Given the description of an element on the screen output the (x, y) to click on. 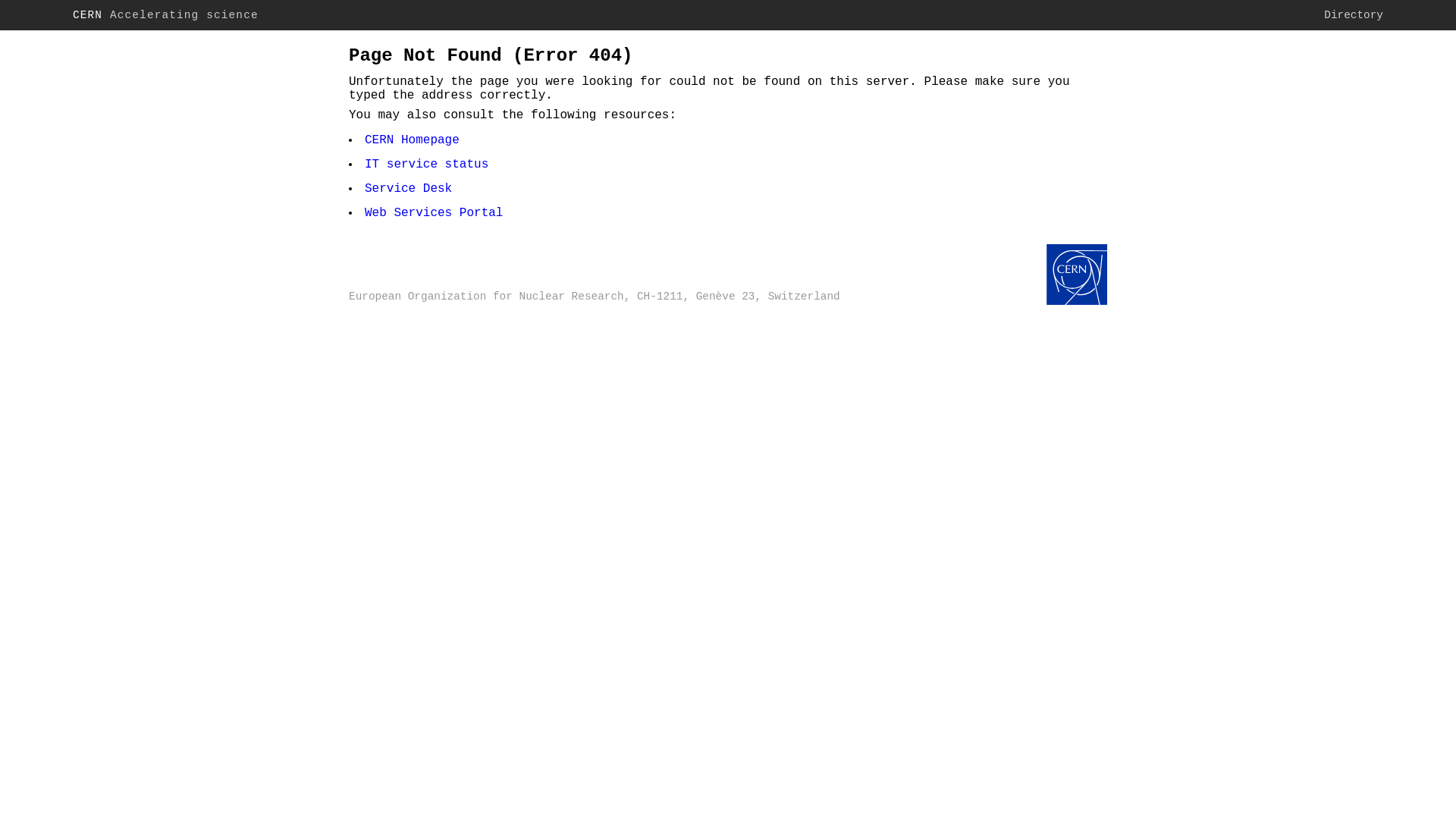
Directory Element type: text (1353, 15)
Service Desk Element type: text (407, 188)
CERN Accelerating science Element type: text (165, 15)
CERN Homepage Element type: hover (1076, 275)
IT service status Element type: text (426, 164)
CERN Homepage Element type: text (411, 140)
Web Services Portal Element type: text (433, 212)
